Given the description of an element on the screen output the (x, y) to click on. 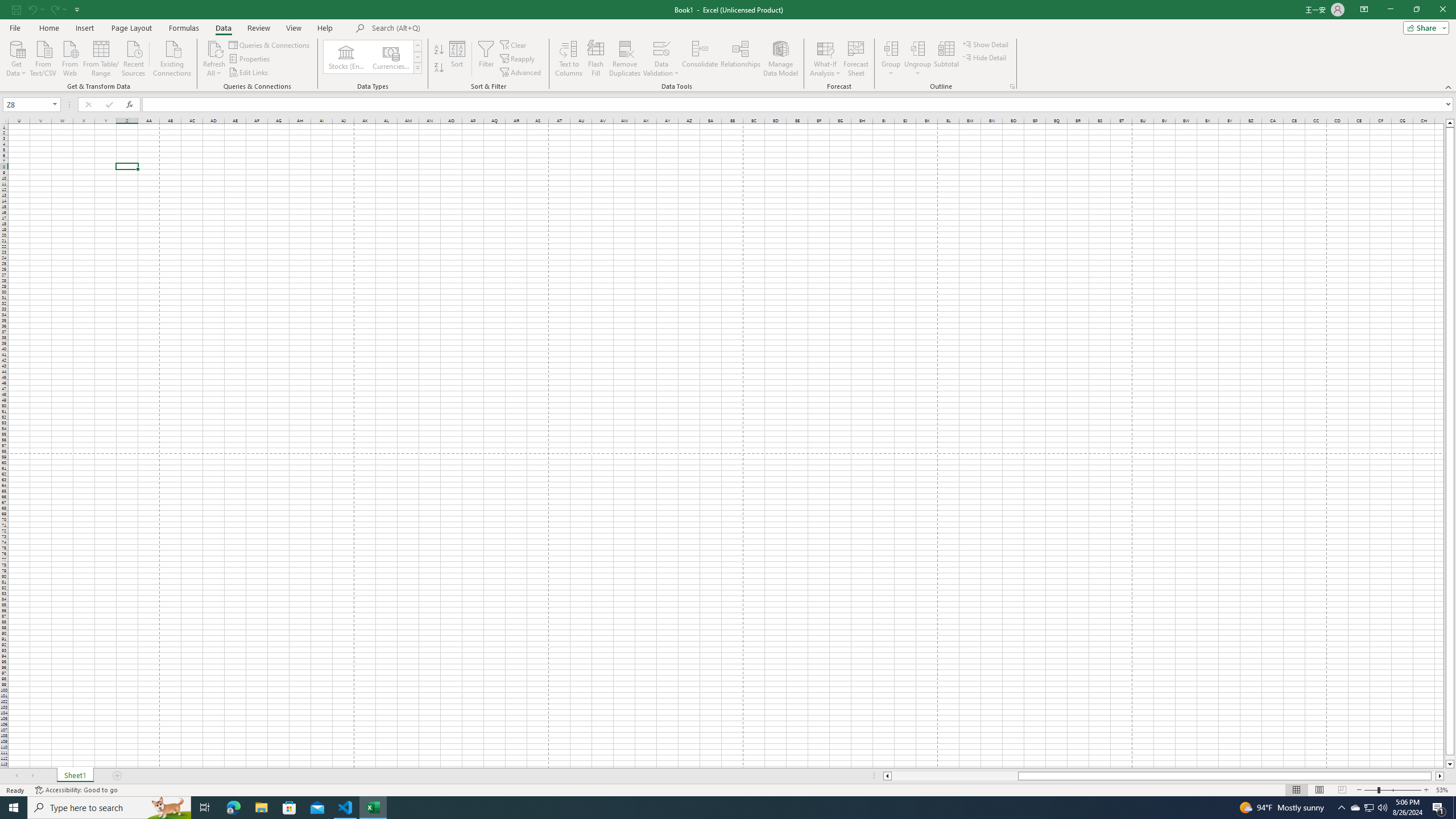
Currencies (English) (390, 56)
Help (325, 28)
Flash Fill (595, 58)
Open (54, 104)
Queries & Connections (270, 44)
Group... (890, 48)
Column right (1440, 775)
Edit Links (249, 72)
Sort Z to A (438, 67)
Restore Down (1416, 9)
Reapply (517, 58)
Refresh All (214, 58)
Line down (1449, 764)
Name Box (30, 104)
Row up (417, 45)
